Given the description of an element on the screen output the (x, y) to click on. 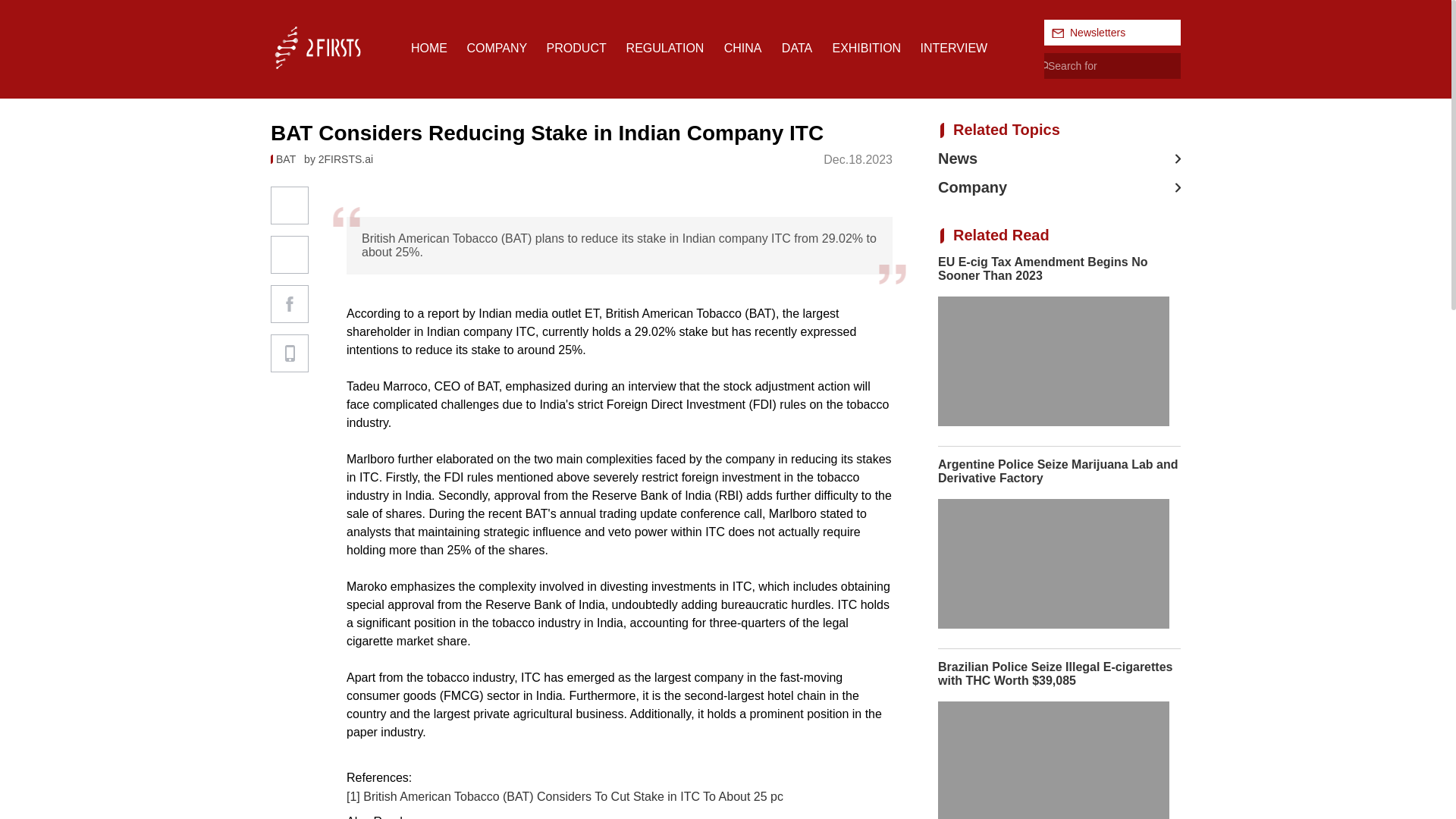
Company (1058, 187)
COMPANY (496, 48)
INTERVIEW (954, 48)
EU E-cig Tax Amendment Begins No Sooner Than 2023 (1058, 350)
PRODUCT (577, 48)
HOME (428, 48)
News (1058, 158)
EXHIBITION (866, 48)
REGULATION (665, 48)
Argentine Police Seize Marijuana Lab and Derivative Factory (1058, 547)
CHINA (742, 48)
